Given the description of an element on the screen output the (x, y) to click on. 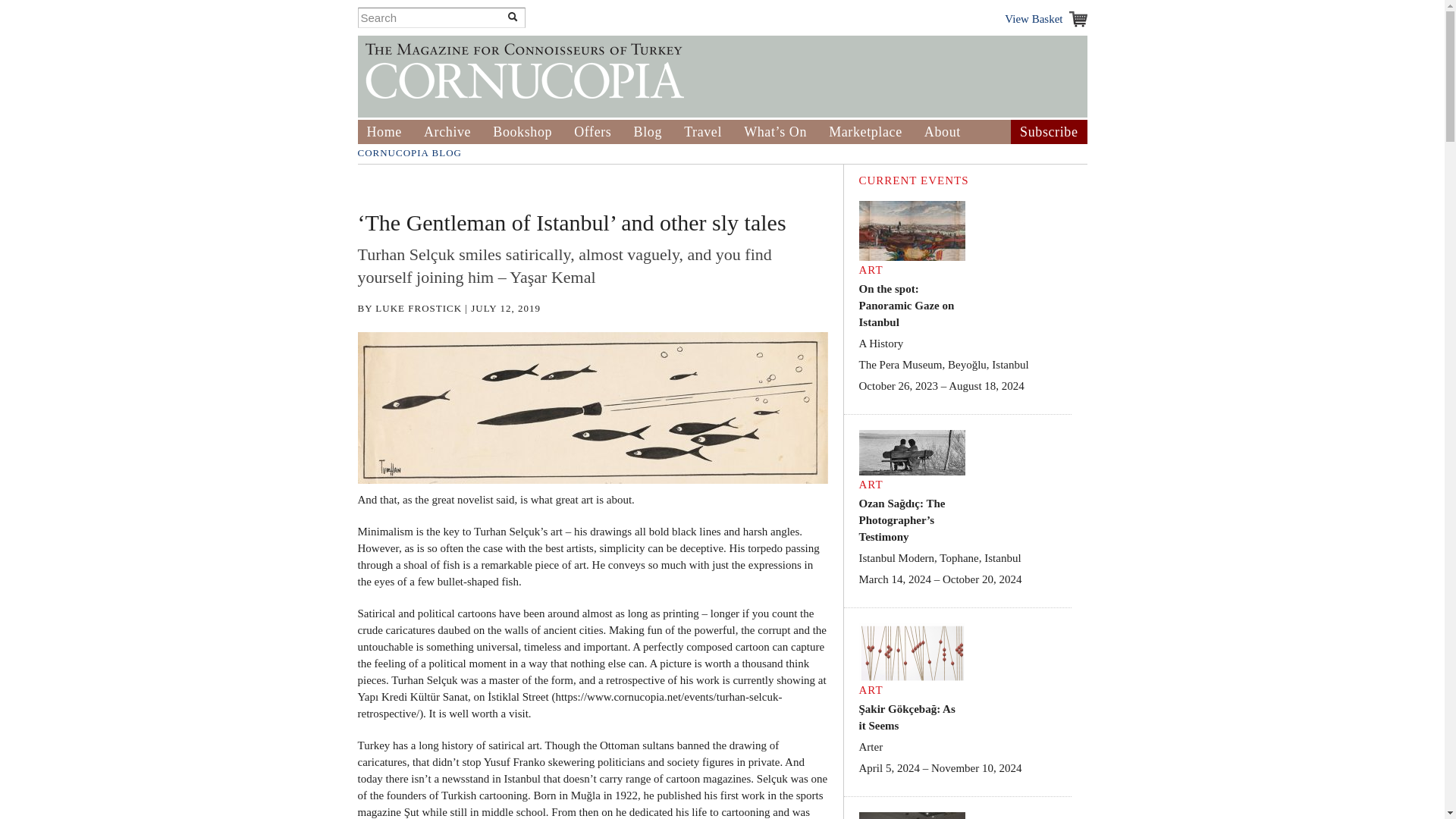
Twitter Tweet Button (381, 188)
Blog (647, 131)
Archive (446, 131)
Home (383, 131)
Bookshop (522, 131)
Subscribe (1048, 131)
About (942, 131)
CORNUCOPIA BLOG (409, 152)
Travel (703, 131)
Marketplace (865, 131)
